Given the description of an element on the screen output the (x, y) to click on. 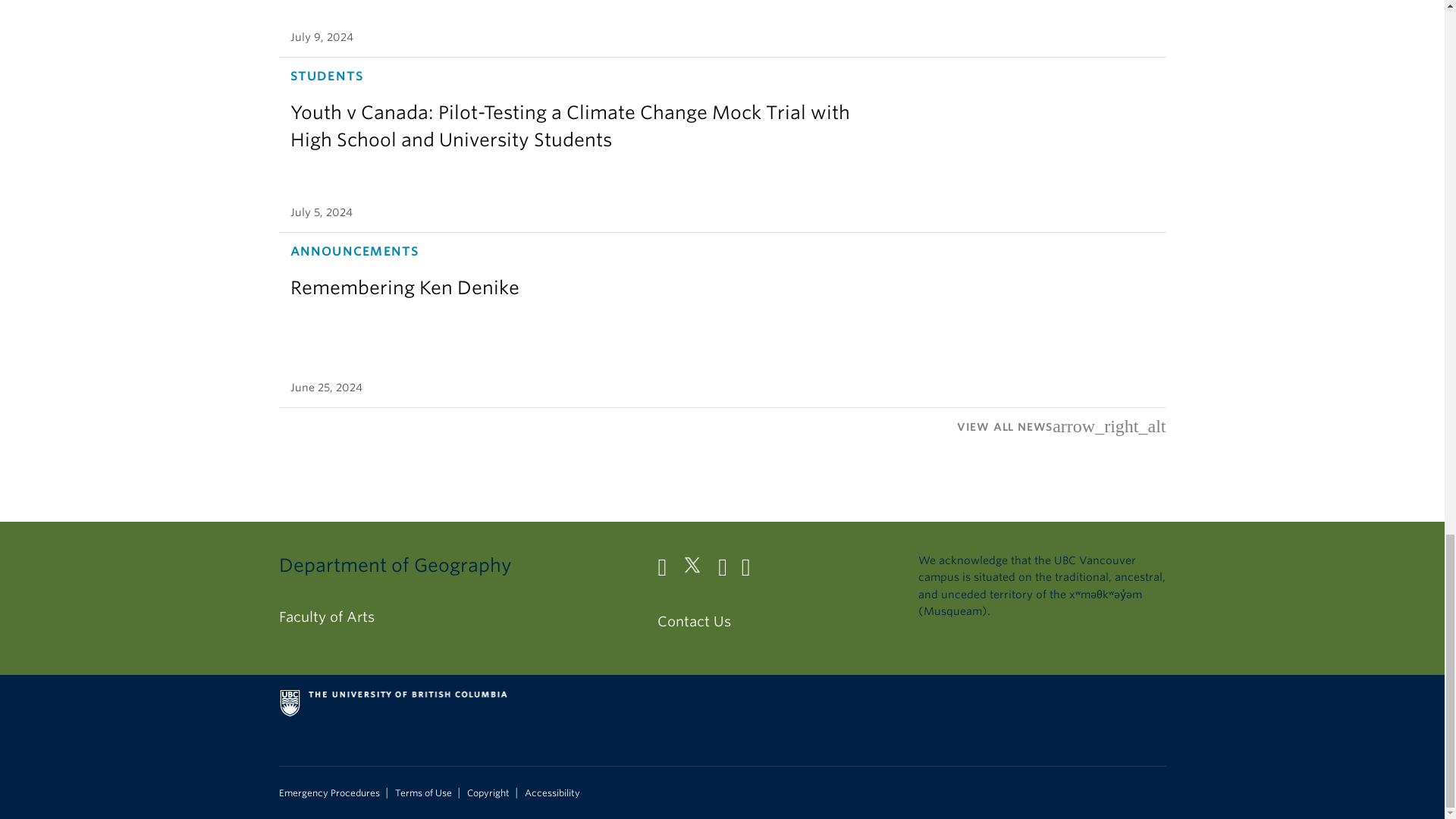
LinkedIn icon (727, 570)
Instagram (751, 570)
Facebook icon (668, 570)
Twitter icon (697, 570)
